Given the description of an element on the screen output the (x, y) to click on. 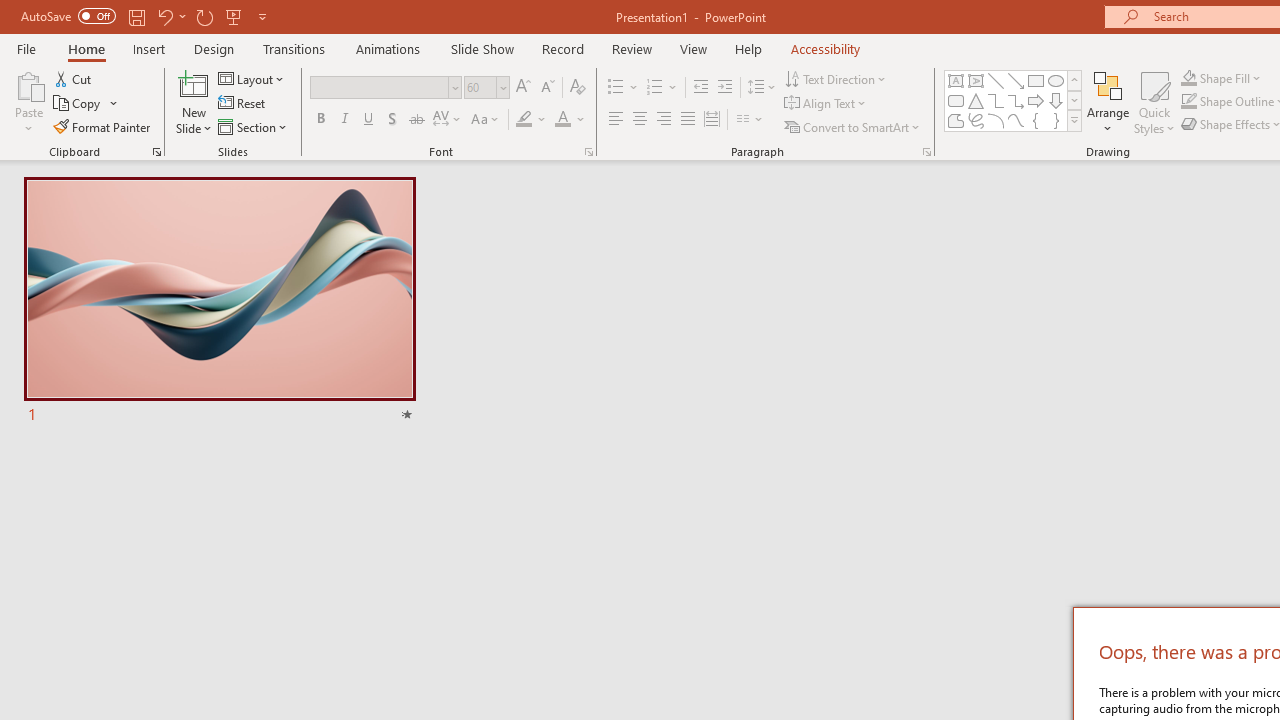
Center (639, 119)
Clear Formatting (577, 87)
Align Right (663, 119)
Arrow: Right (1035, 100)
Arrow: Down (1055, 100)
Office Clipboard... (156, 151)
Increase Indent (725, 87)
Italic (344, 119)
Justify (687, 119)
